Given the description of an element on the screen output the (x, y) to click on. 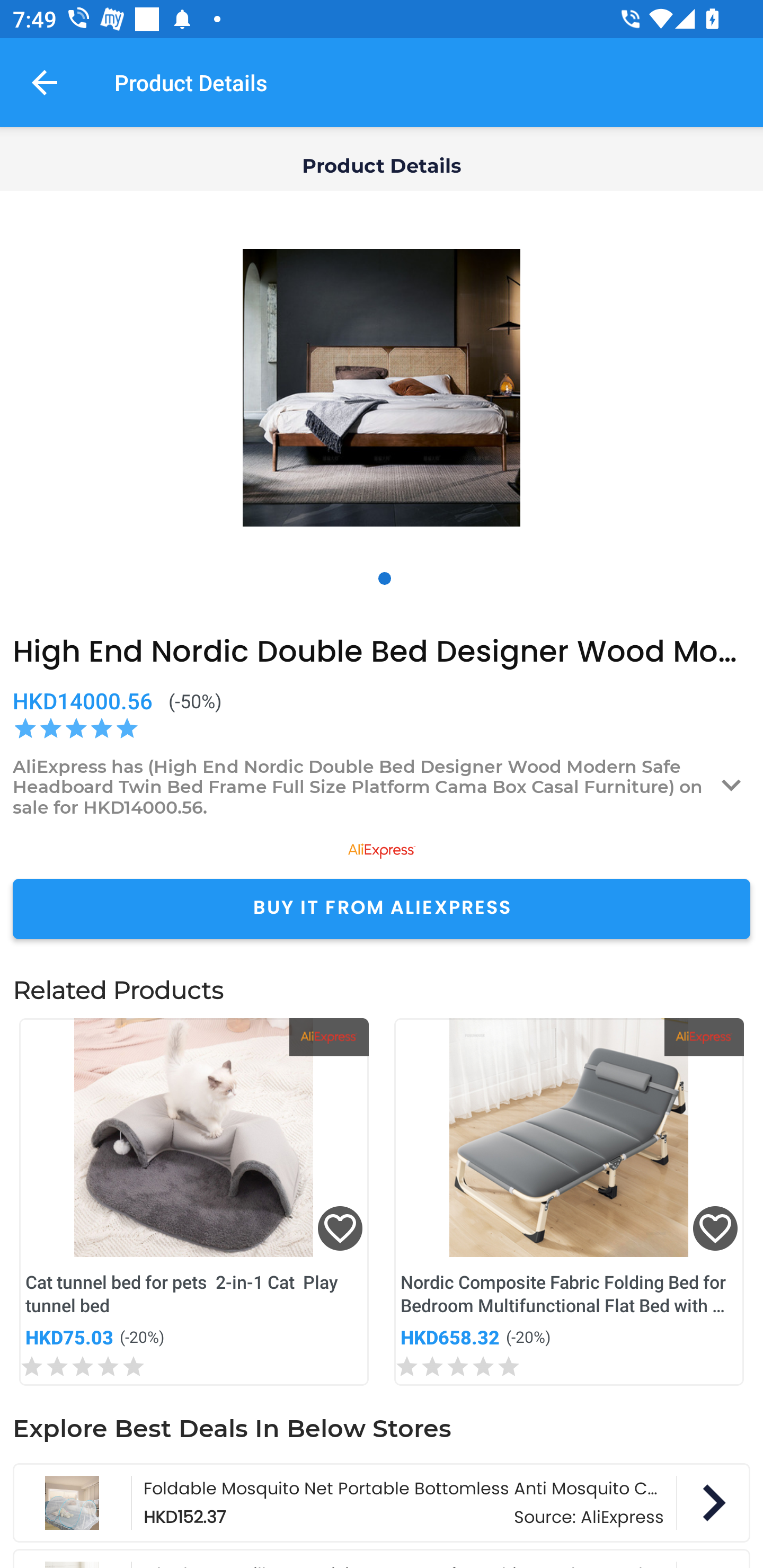
Navigate up (44, 82)
BUY IT FROM ALIEXPRESS (381, 908)
